Given the description of an element on the screen output the (x, y) to click on. 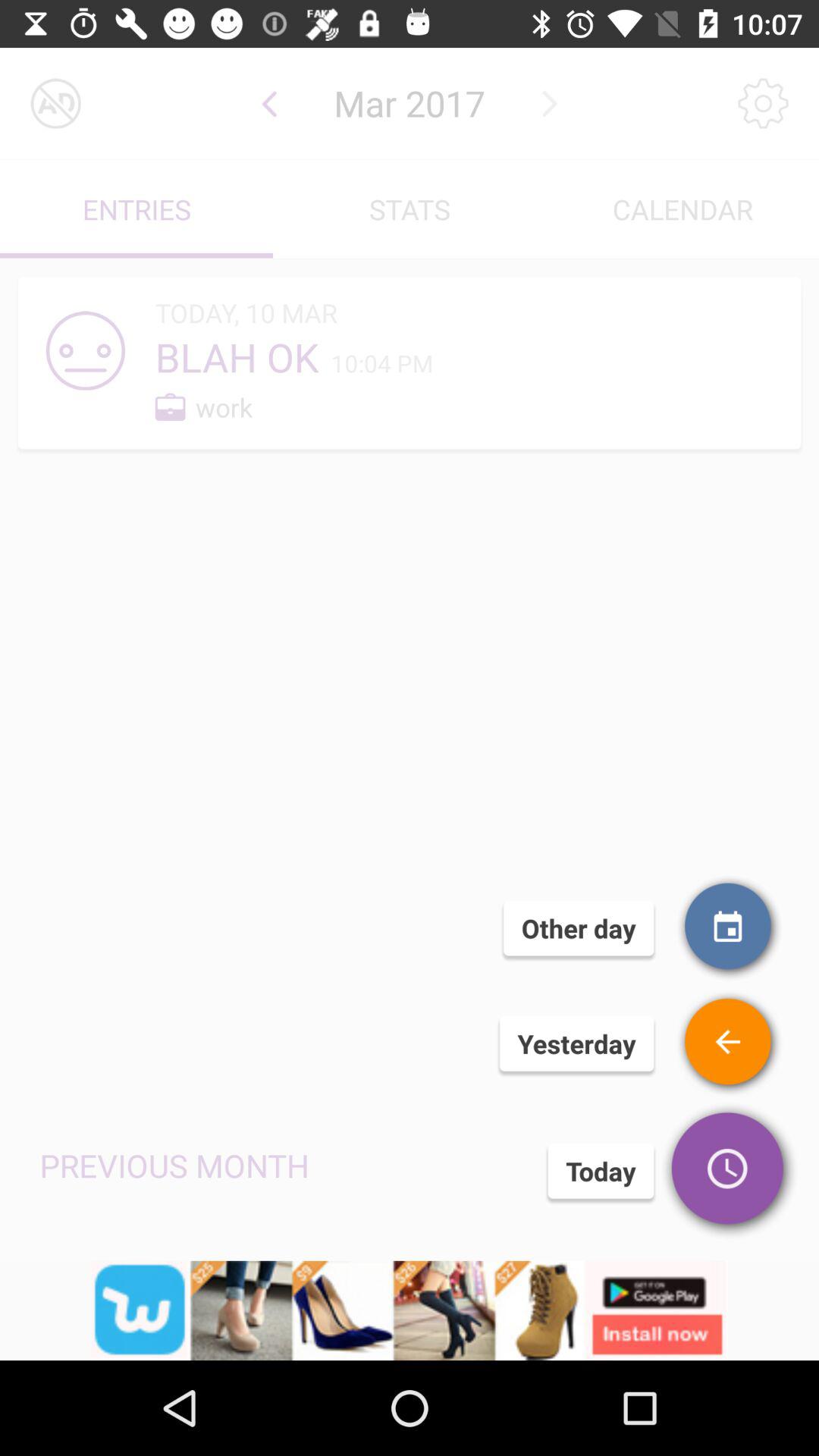
advertisement (409, 1310)
